Given the description of an element on the screen output the (x, y) to click on. 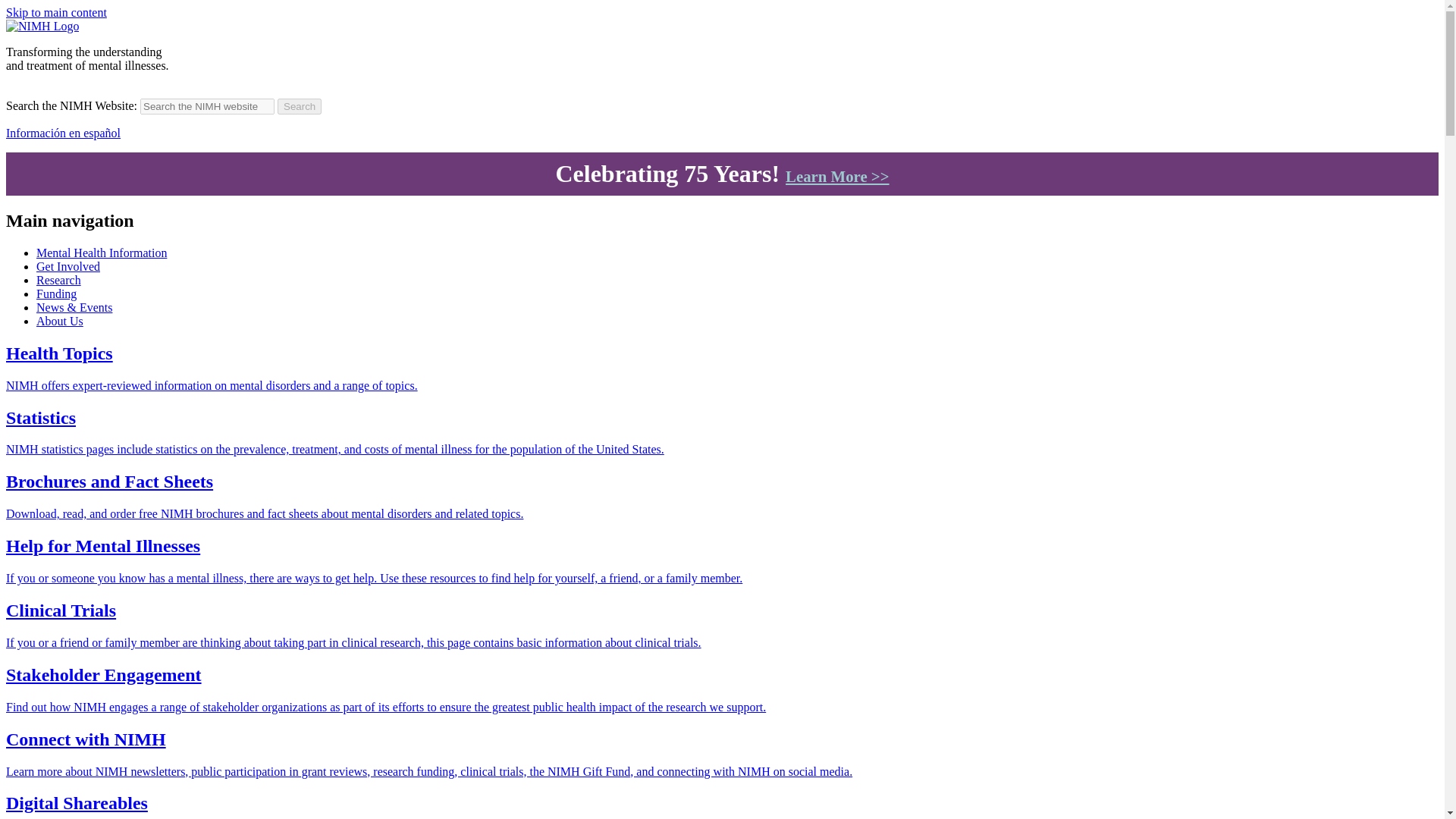
Skip to main content (55, 11)
Search (299, 106)
Get Involved (68, 266)
Mental Health Information (101, 252)
About Us (59, 320)
Research (58, 279)
Funding (56, 293)
Search (299, 106)
NIMH Home (41, 25)
